Given the description of an element on the screen output the (x, y) to click on. 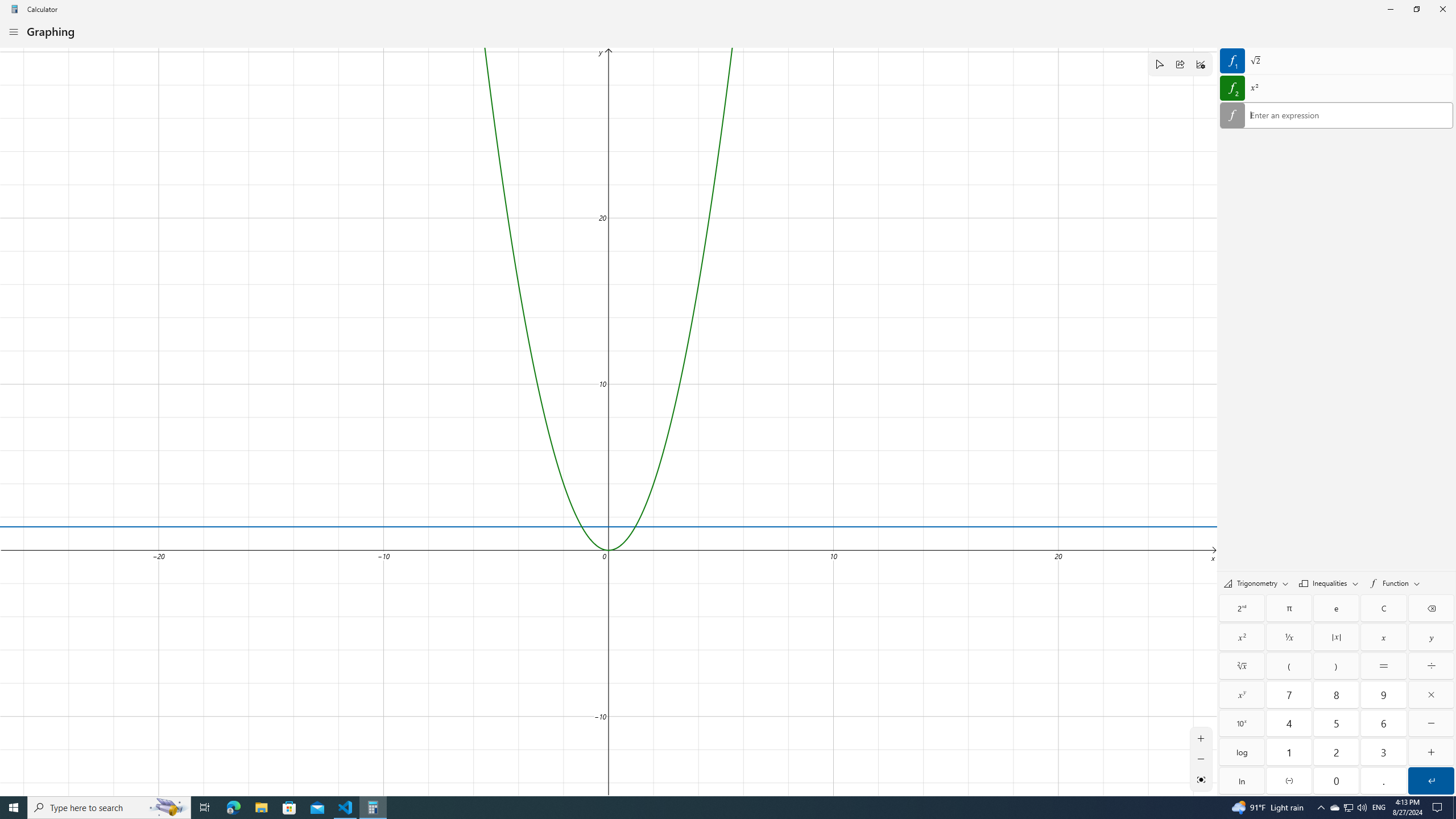
Share (1179, 63)
Natural log (1241, 780)
Start tracing (1159, 63)
Calculator - 1 running window (373, 807)
Plus (1430, 751)
Functions (1394, 582)
Square root (1241, 665)
Inequalities (1328, 582)
Divide by (1430, 665)
Functions (1394, 582)
Positive negative (1288, 780)
Zero (1336, 780)
Absolute value (1336, 637)
